Given the description of an element on the screen output the (x, y) to click on. 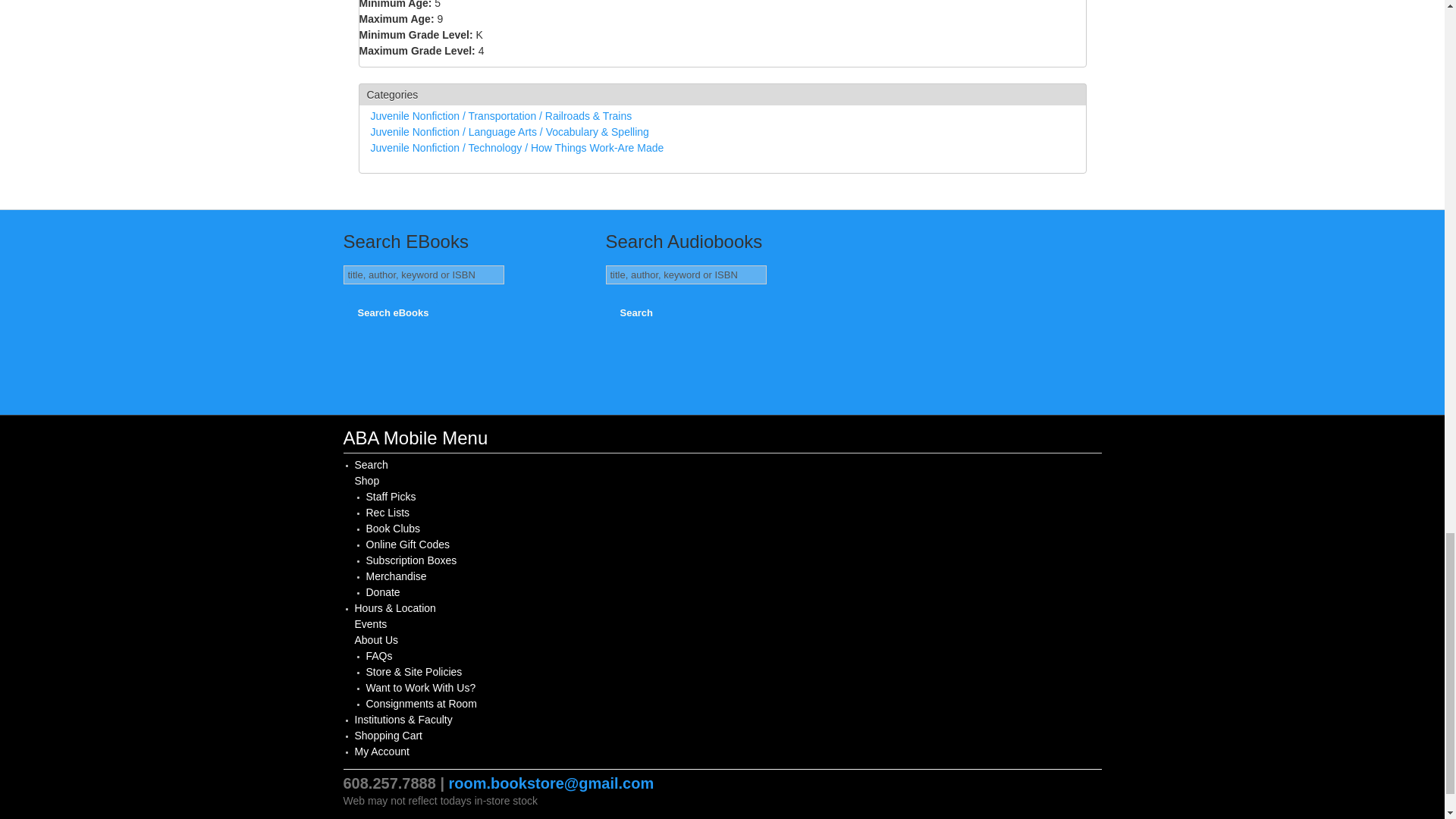
title, author, keyword or ISBN (685, 274)
Search eBooks (393, 312)
Search (636, 312)
Search (636, 312)
title, author, keyword or ISBN (422, 274)
Search (371, 464)
Search eBooks (393, 312)
Shop (367, 480)
